Given the description of an element on the screen output the (x, y) to click on. 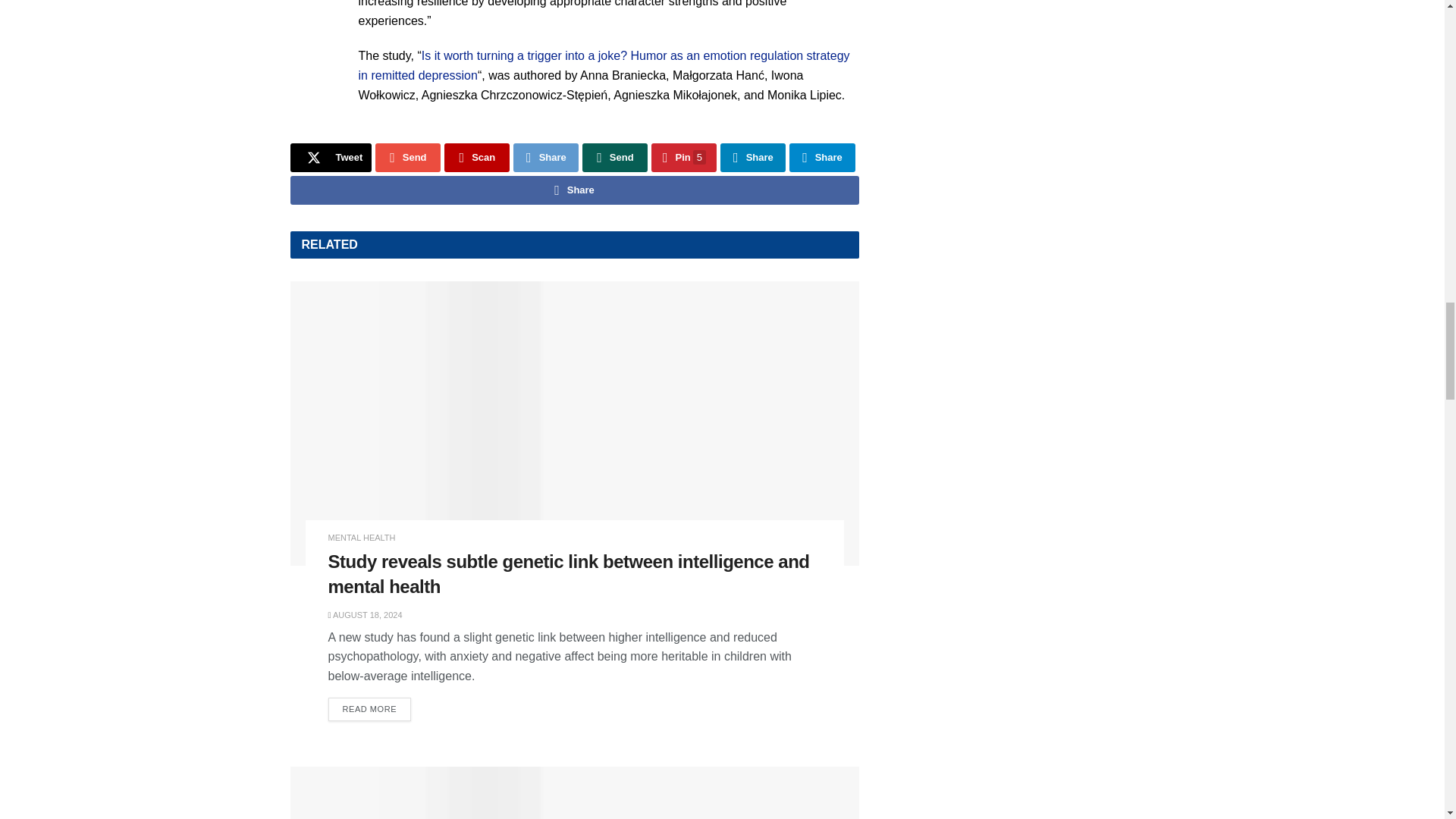
Send (614, 157)
Scan (476, 157)
Tweet (330, 157)
Pin5 (683, 157)
Share (545, 157)
Send (408, 157)
Share (753, 157)
